Given the description of an element on the screen output the (x, y) to click on. 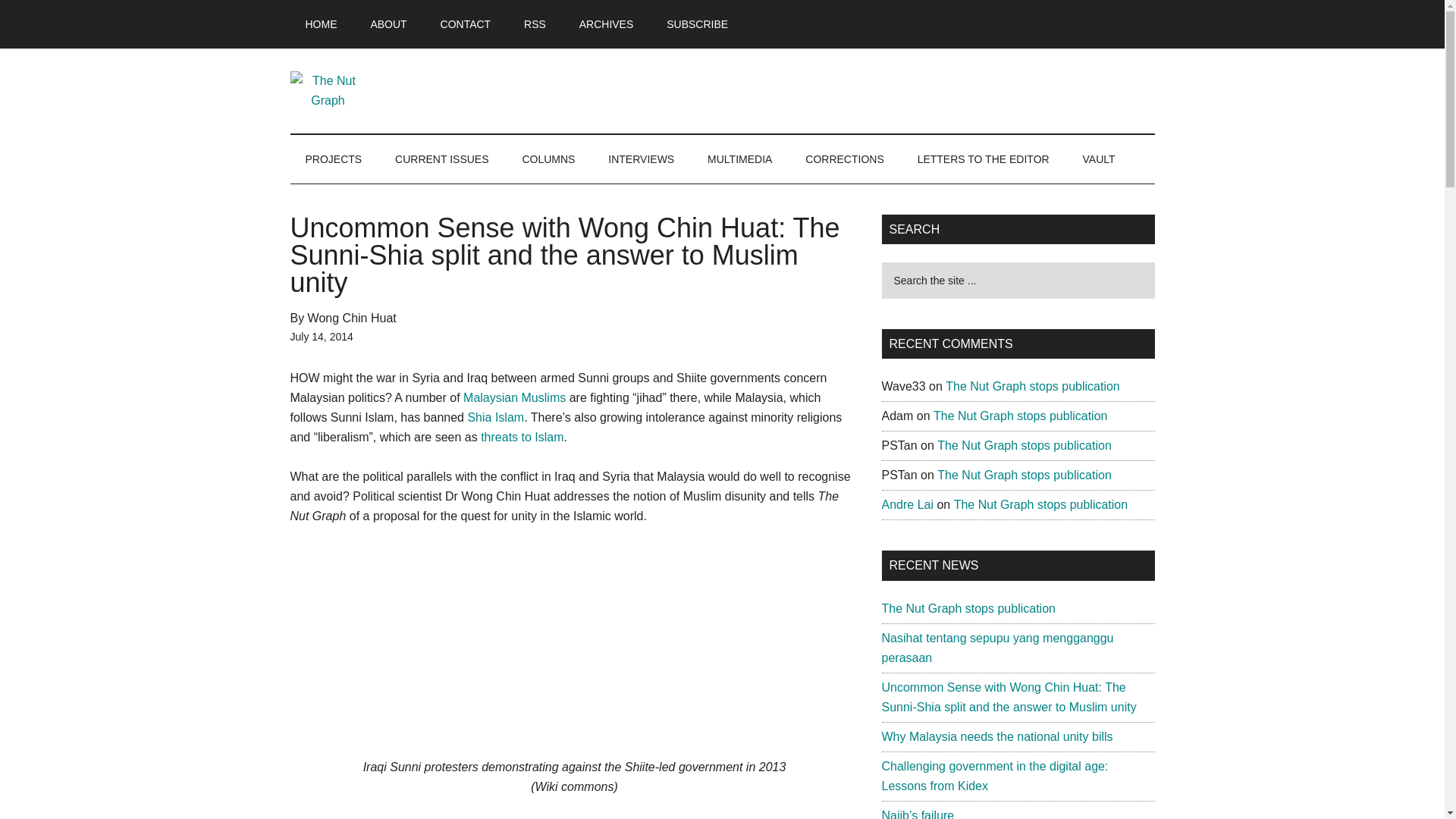
threats to Islam (521, 436)
INTERVIEWS (640, 159)
CONTACT (465, 24)
CORRECTIONS (844, 159)
VAULT (1099, 159)
RSS (534, 24)
MULTIMEDIA (740, 159)
HOME (320, 24)
LETTERS TO THE EDITOR (983, 159)
